Given the description of an element on the screen output the (x, y) to click on. 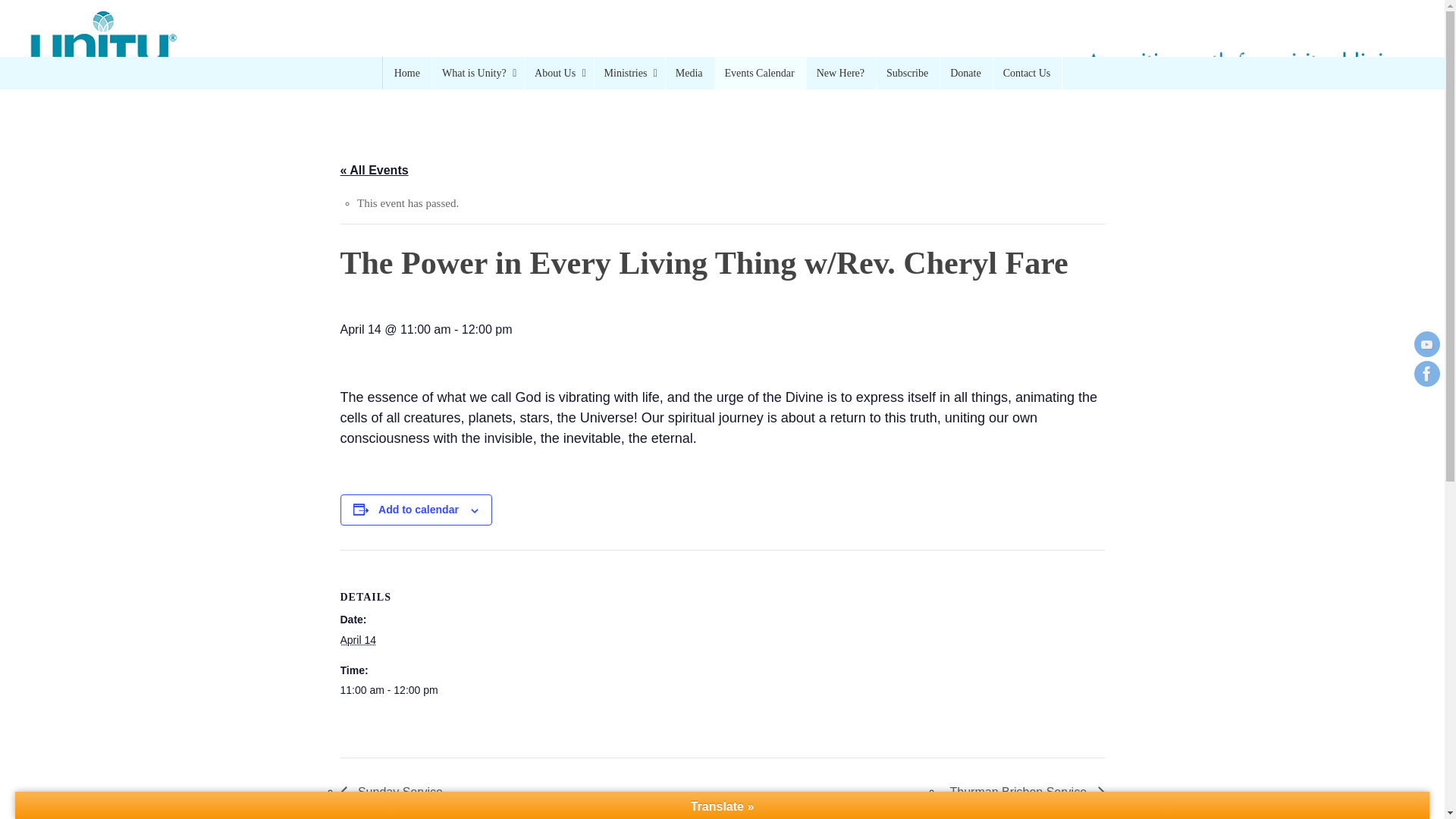
Events Calendar (760, 72)
YouTube (1426, 344)
Subscribe (907, 72)
Facebook (1426, 373)
Contact Us (1027, 72)
Ministries (629, 72)
2024-04-14 (357, 640)
What is Unity? (477, 72)
Media (689, 72)
2024-04-14 (403, 690)
About Us (558, 72)
Add to calendar (418, 509)
Donate (965, 72)
New Here? (841, 72)
Home (407, 72)
